Given the description of an element on the screen output the (x, y) to click on. 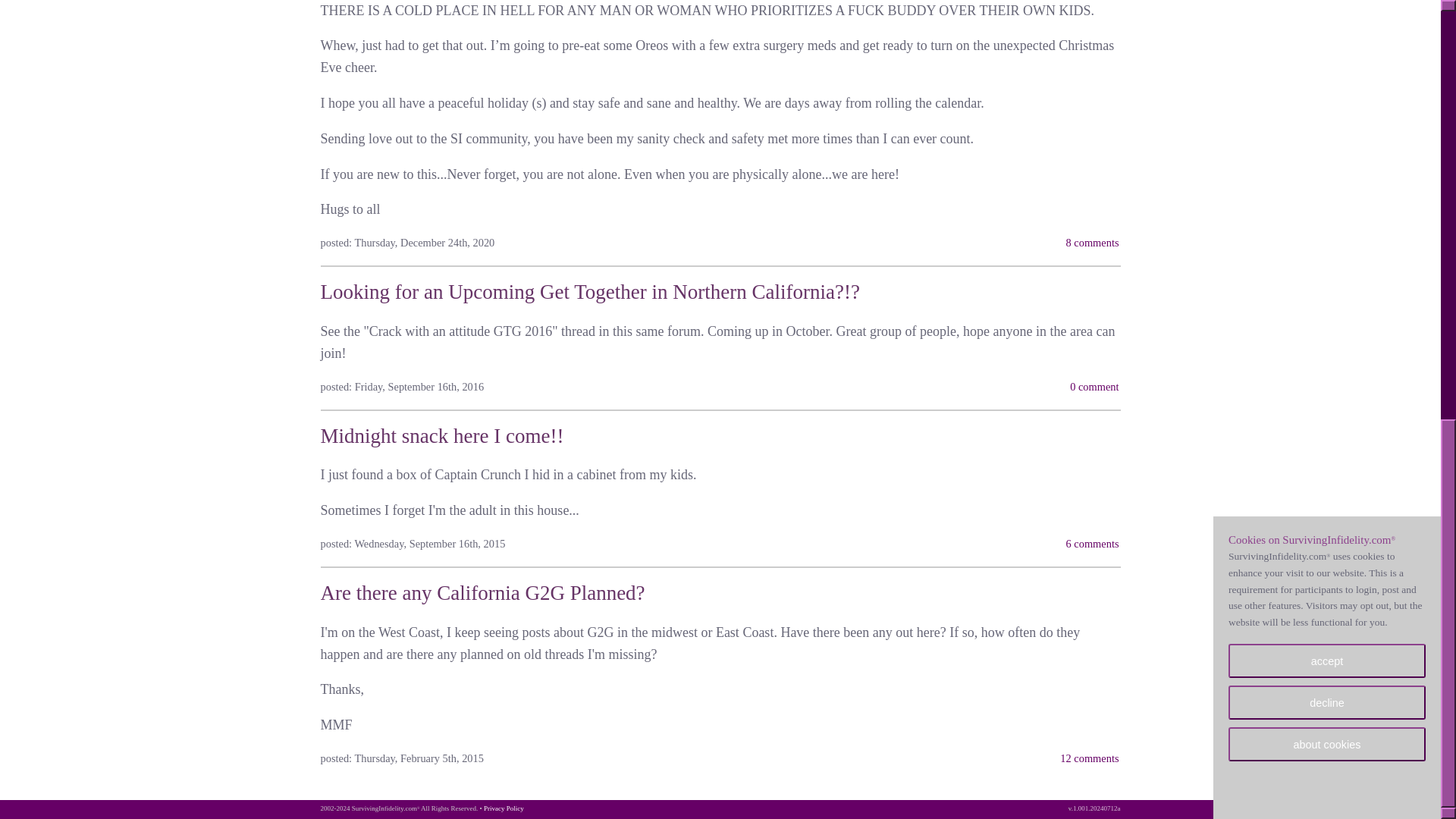
0 comment (1093, 386)
6 comments (1092, 543)
8 comments (1092, 242)
12 comments (1088, 758)
